Given the description of an element on the screen output the (x, y) to click on. 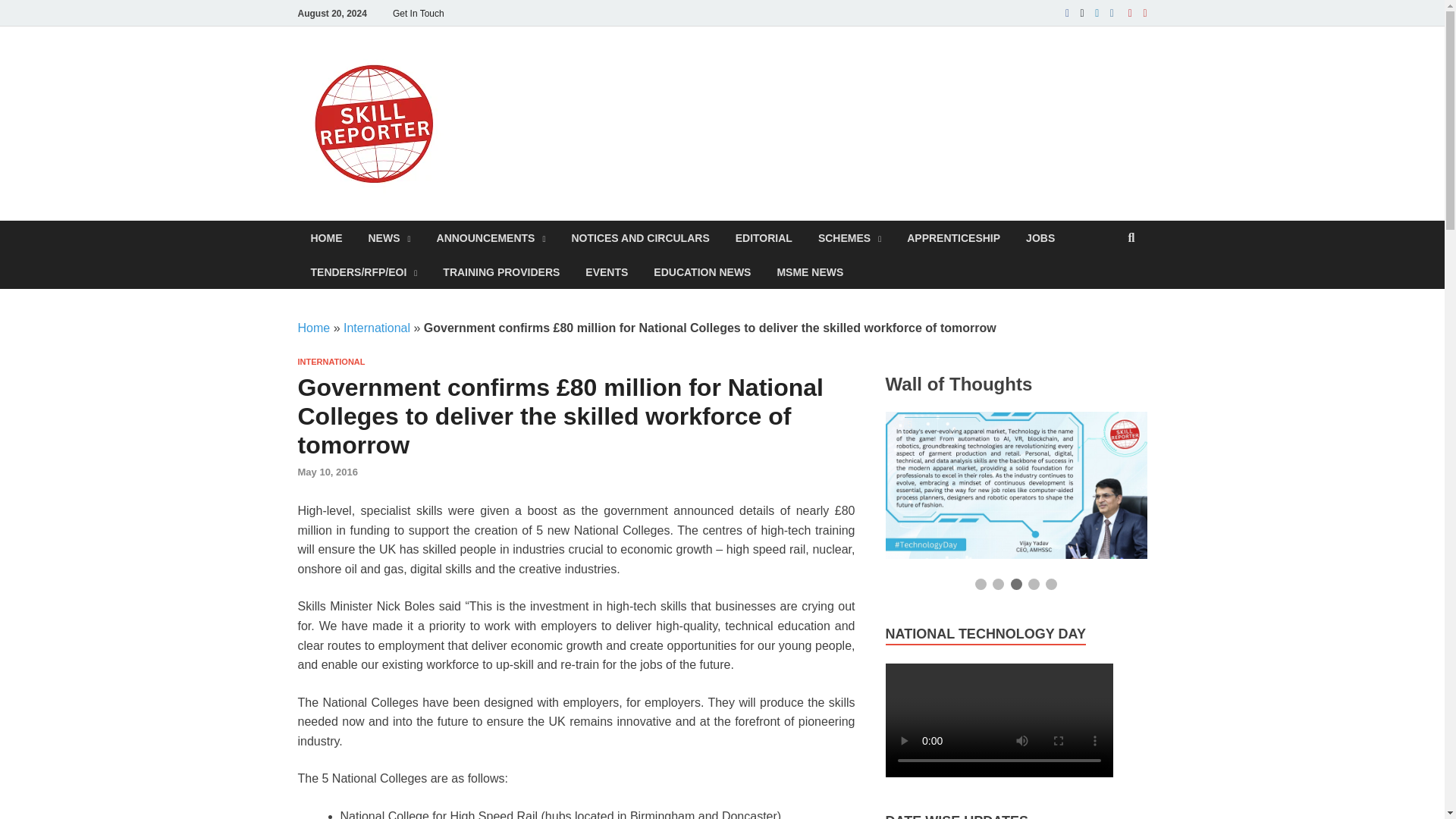
Skill News (389, 237)
NEWS (389, 237)
Get In Touch (418, 13)
notices-circulars (639, 237)
Home (326, 237)
Schemes (849, 237)
HOME (326, 237)
Skill Reporter (550, 78)
